Given the description of an element on the screen output the (x, y) to click on. 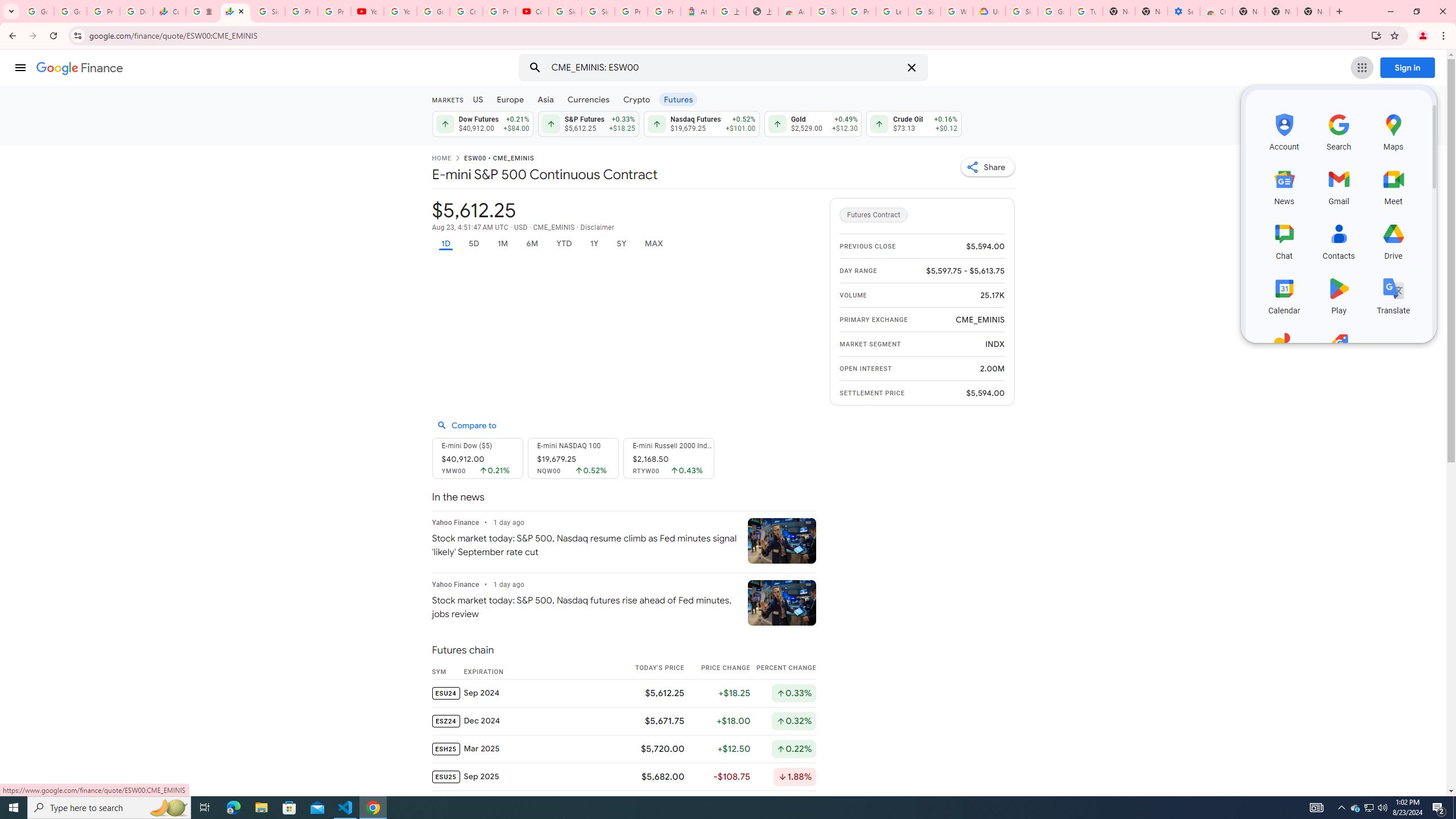
New Tab (1248, 11)
MAX (653, 243)
Who are Google's partners? - Privacy and conditions - Google (957, 11)
Google Account Help (1053, 11)
Awesome Screen Recorder & Screenshot - Chrome Web Store (794, 11)
YouTube (367, 11)
Gold $2,529.00 Up by 0.49% +$12.30 (812, 123)
Currencies (588, 99)
US (477, 99)
